Given the description of an element on the screen output the (x, y) to click on. 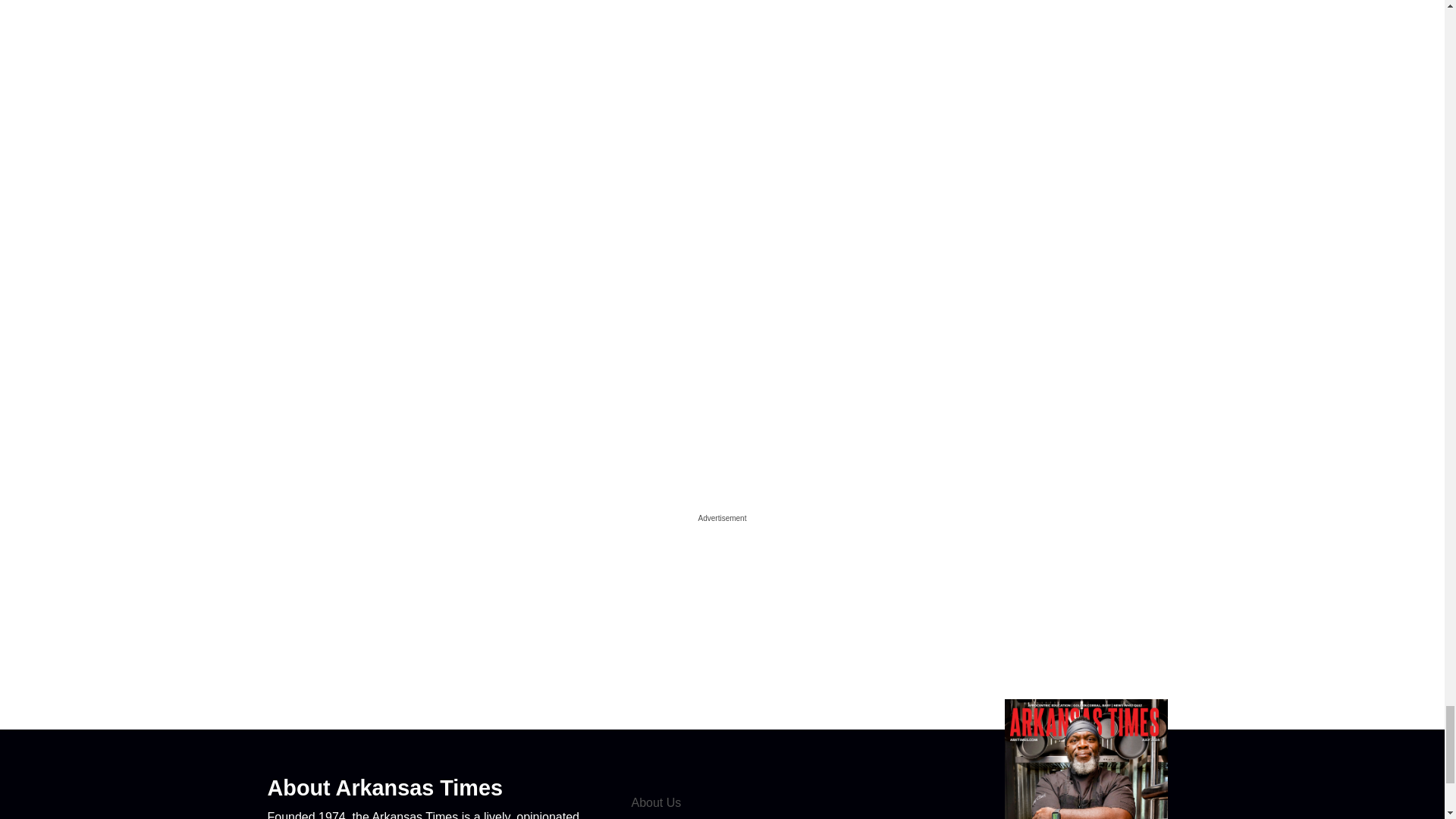
3rd party ad content (721, 622)
